Given the description of an element on the screen output the (x, y) to click on. 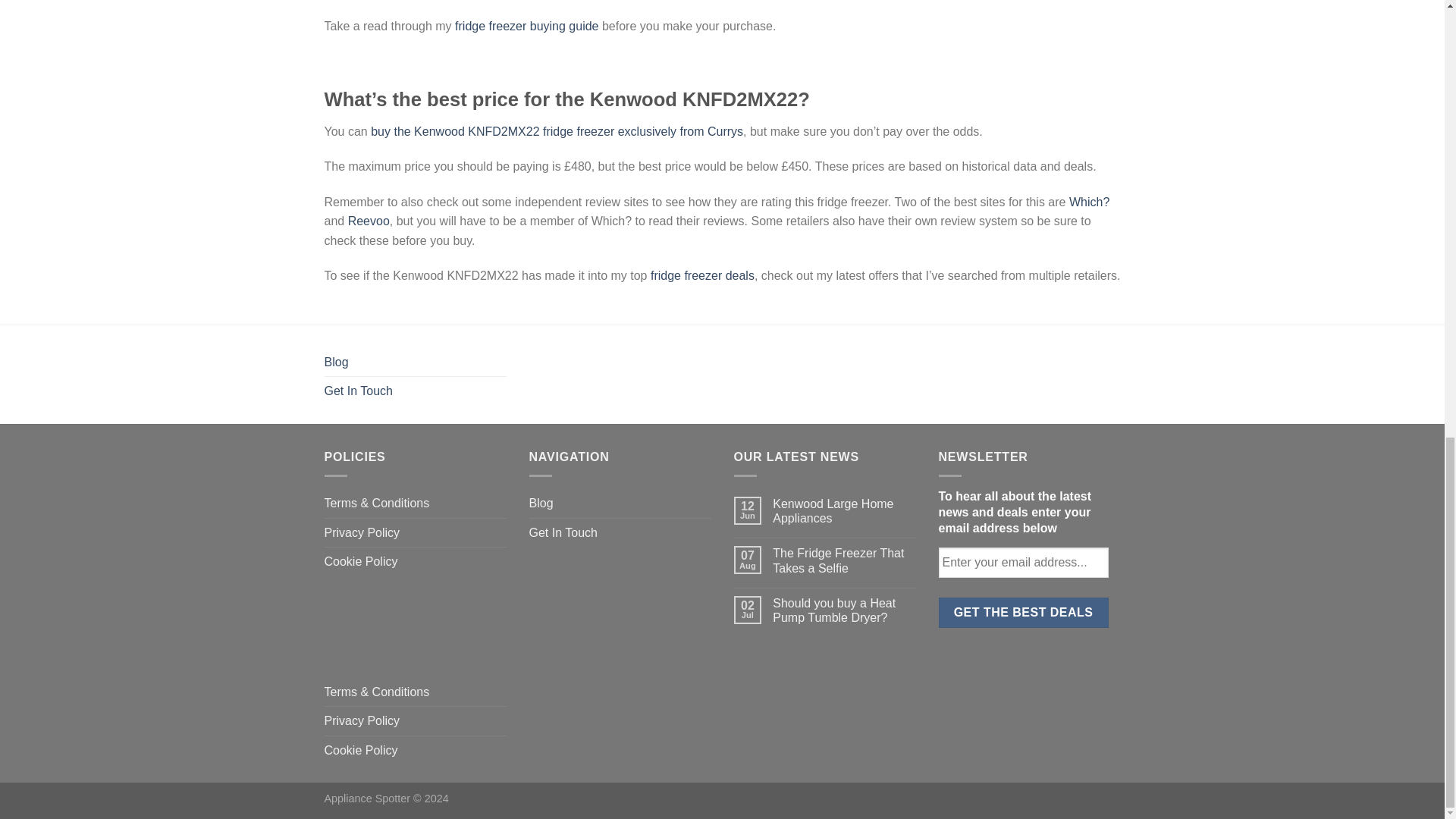
The Fridge Freezer That Takes a Selfie (844, 560)
Should you buy a Heat Pump Tumble Dryer? (844, 610)
Kenwood Large Home Appliances (844, 510)
Get the Best Deals (1023, 612)
